Given the description of an element on the screen output the (x, y) to click on. 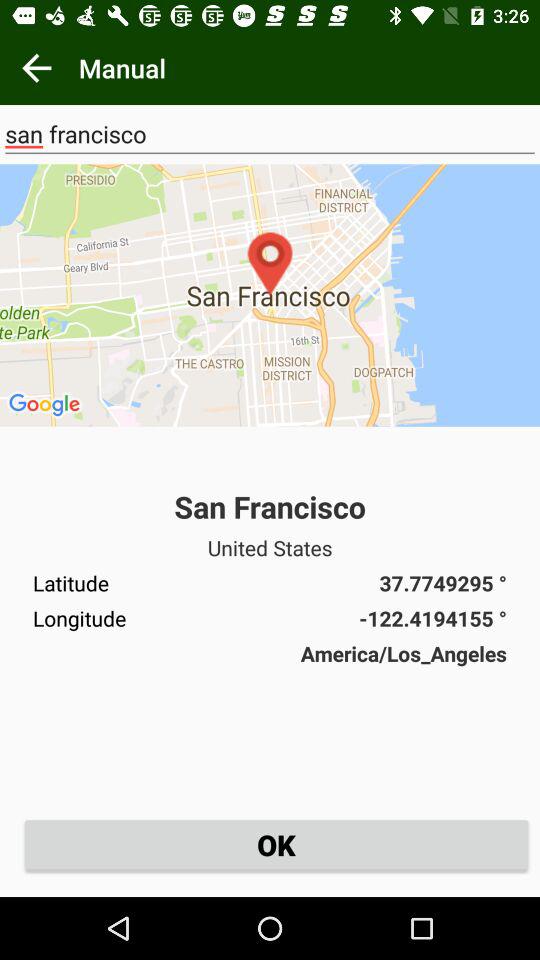
press the item above san francisco item (270, 295)
